Given the description of an element on the screen output the (x, y) to click on. 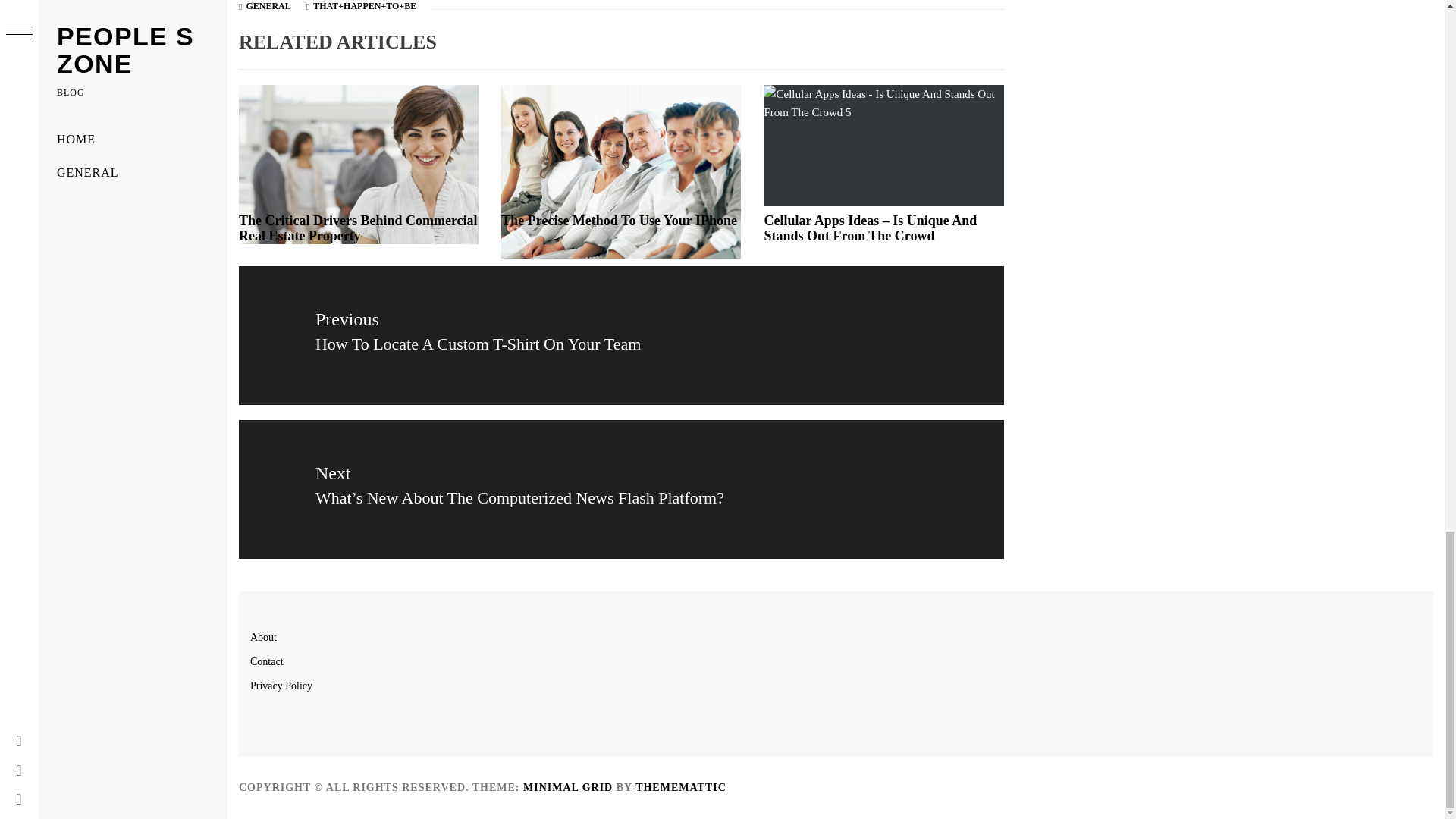
The Precise Method To Use Your IPhone (618, 220)
The Critical Drivers Behind Commercial Real Estate Property (357, 227)
GENERAL (267, 5)
